Given the description of an element on the screen output the (x, y) to click on. 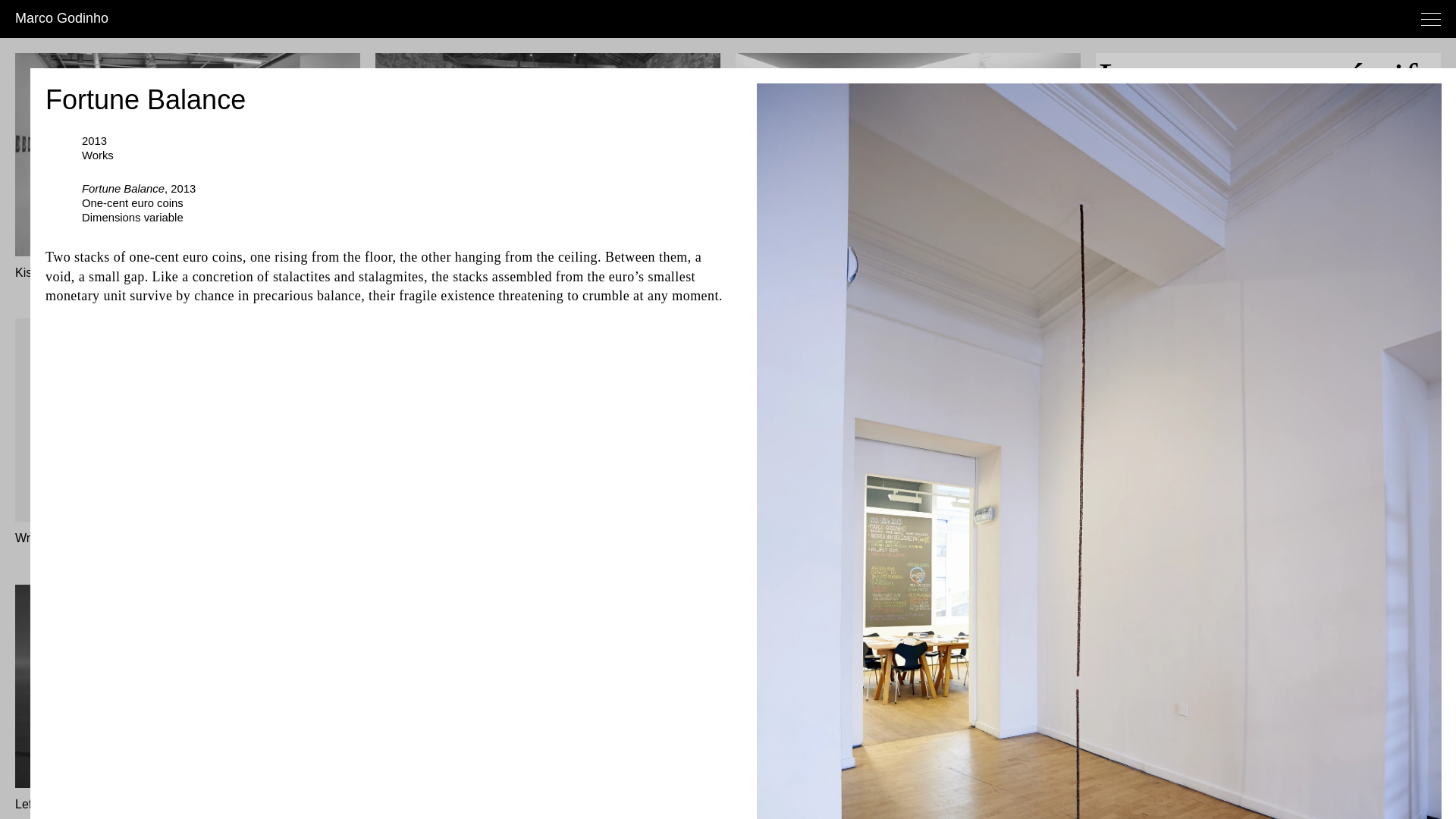
Kissing The Sun, Touching The Moon, Mixing The Waters (168, 272)
Marco Godinho (60, 17)
